Given the description of an element on the screen output the (x, y) to click on. 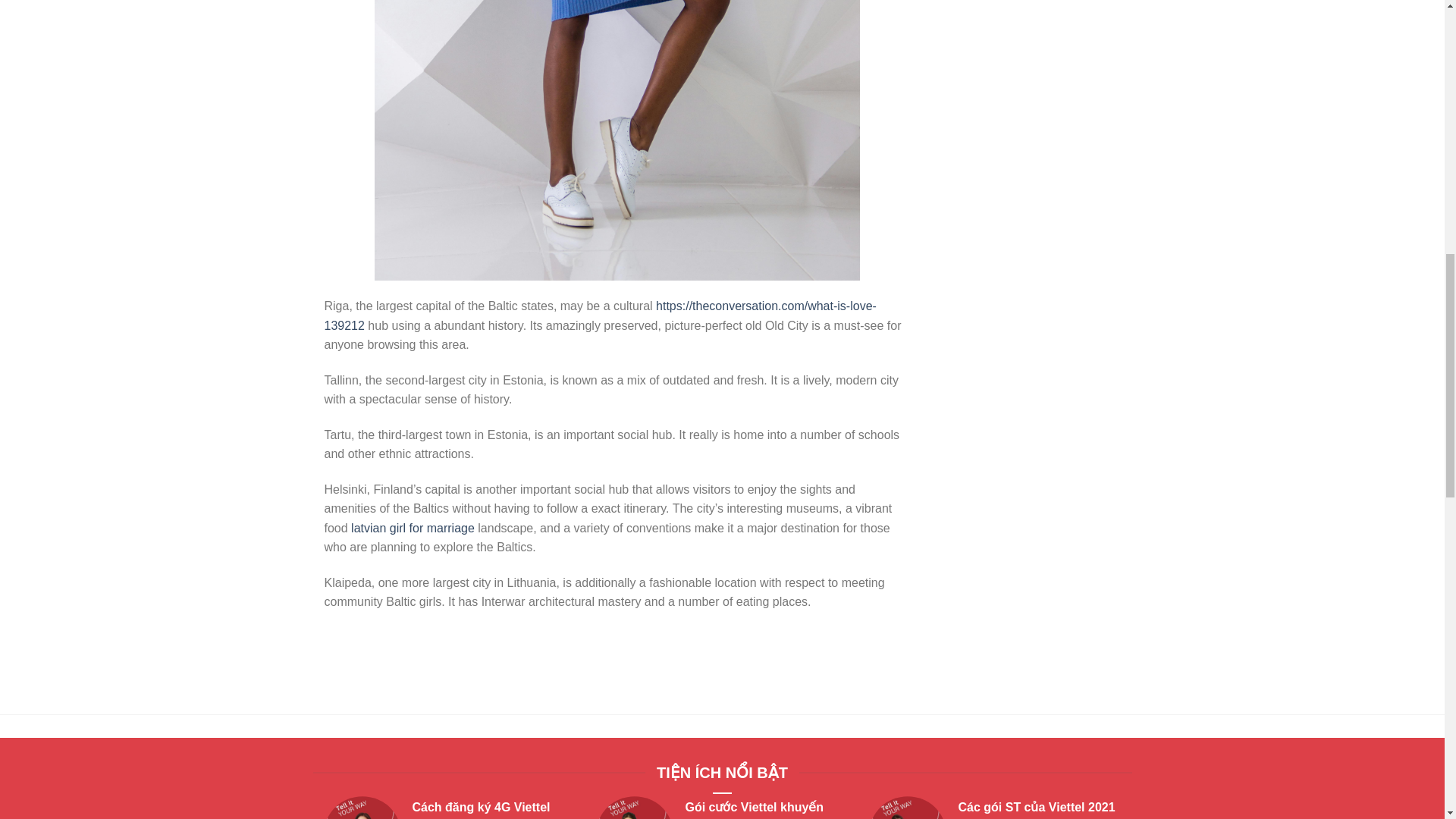
latvian girl for marriage (412, 527)
